Given the description of an element on the screen output the (x, y) to click on. 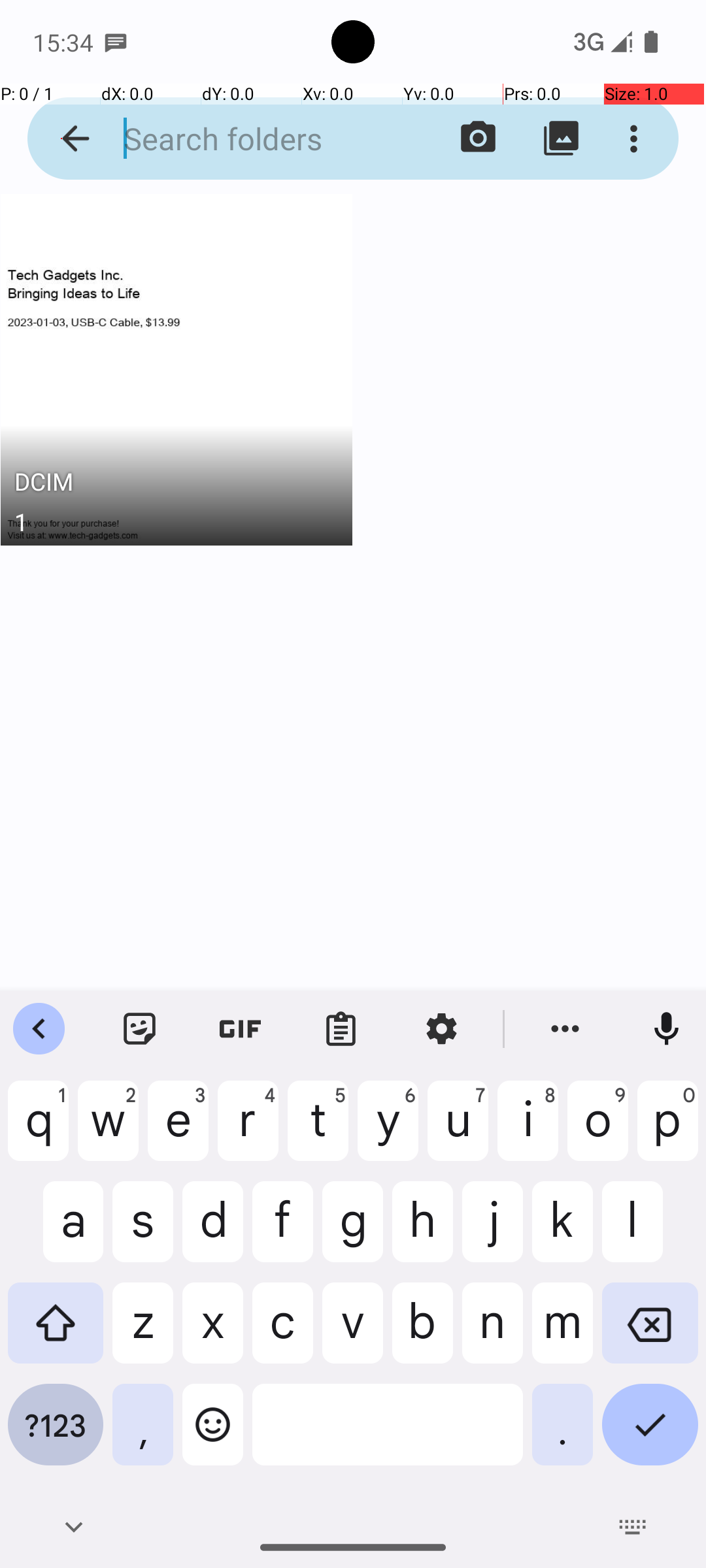
Search folders Element type: android.widget.EditText (252, 138)
Open camera Element type: android.widget.Button (477, 138)
Show all folders content Element type: android.widget.Button (560, 138)
DCIM Element type: android.widget.TextView (176, 484)
